Given the description of an element on the screen output the (x, y) to click on. 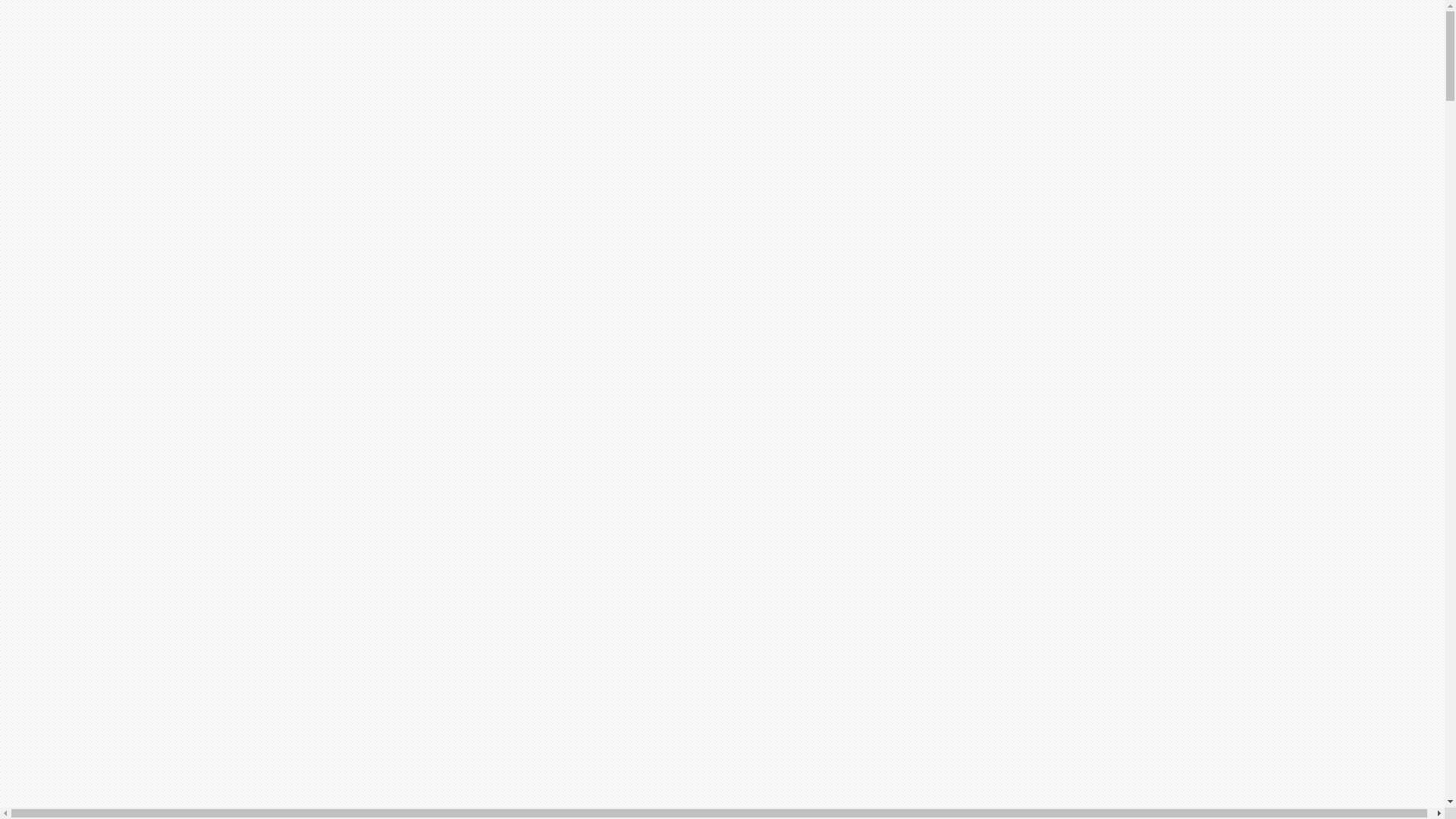
Inverell Element type: text (85, 326)
Finley Element type: text (81, 230)
Driving Safety Tips Element type: text (114, 544)
Contact Element type: text (55, 639)
Greater Shepparton Element type: text (113, 788)
Weather Element type: text (86, 599)
Visitor Guide Element type: text (69, 517)
Video Element type: text (80, 626)
About Element type: text (51, 175)
Grenfell Element type: text (86, 802)
Temora Element type: text (84, 448)
Information Element type: text (65, 530)
Narromine Element type: text (92, 407)
Newell Regional Council Links Element type: text (143, 585)
Narrandera Element type: text (93, 394)
Dubbo Element type: text (83, 706)
Tocumwal Element type: text (91, 462)
Moree Plains Element type: text (98, 366)
Deniliquin Element type: text (92, 203)
Leeton Element type: text (83, 353)
Golf Courses Element type: text (98, 612)
Warrumbungle Shire Element type: text (116, 503)
Menu Element type: text (12, 154)
Fossickers Way Element type: text (104, 747)
Jerilderie Element type: text (89, 339)
Sub Menu Element type: text (132, 683)
West Wyalong Element type: text (101, 489)
Forbes Element type: text (83, 244)
Narrabri Shire Element type: text (101, 380)
Peak Hill Element type: text (89, 435)
Towns & Regions Element type: text (79, 189)
Villages of Cabonne Element type: text (116, 476)
Gilgandra Element type: text (90, 761)
Fossickers Way Element type: text (104, 257)
Goondiwindi Element type: text (98, 774)
Skip to main content Element type: text (36, 6)
Finley Element type: text (81, 720)
Events Element type: text (83, 571)
Parkes & Region Element type: text (107, 421)
About Element type: text (51, 665)
Gilgandra Element type: text (90, 271)
Forbes Element type: text (83, 734)
Deniliquin Element type: text (92, 693)
Dubbo Element type: text (83, 216)
Greater Shepparton Element type: text (113, 298)
Grenfell Element type: text (86, 312)
Live Traffic Reports Element type: text (115, 558)
Towns & Regions Element type: text (79, 679)
Goondiwindi Element type: text (98, 285)
